Given the description of an element on the screen output the (x, y) to click on. 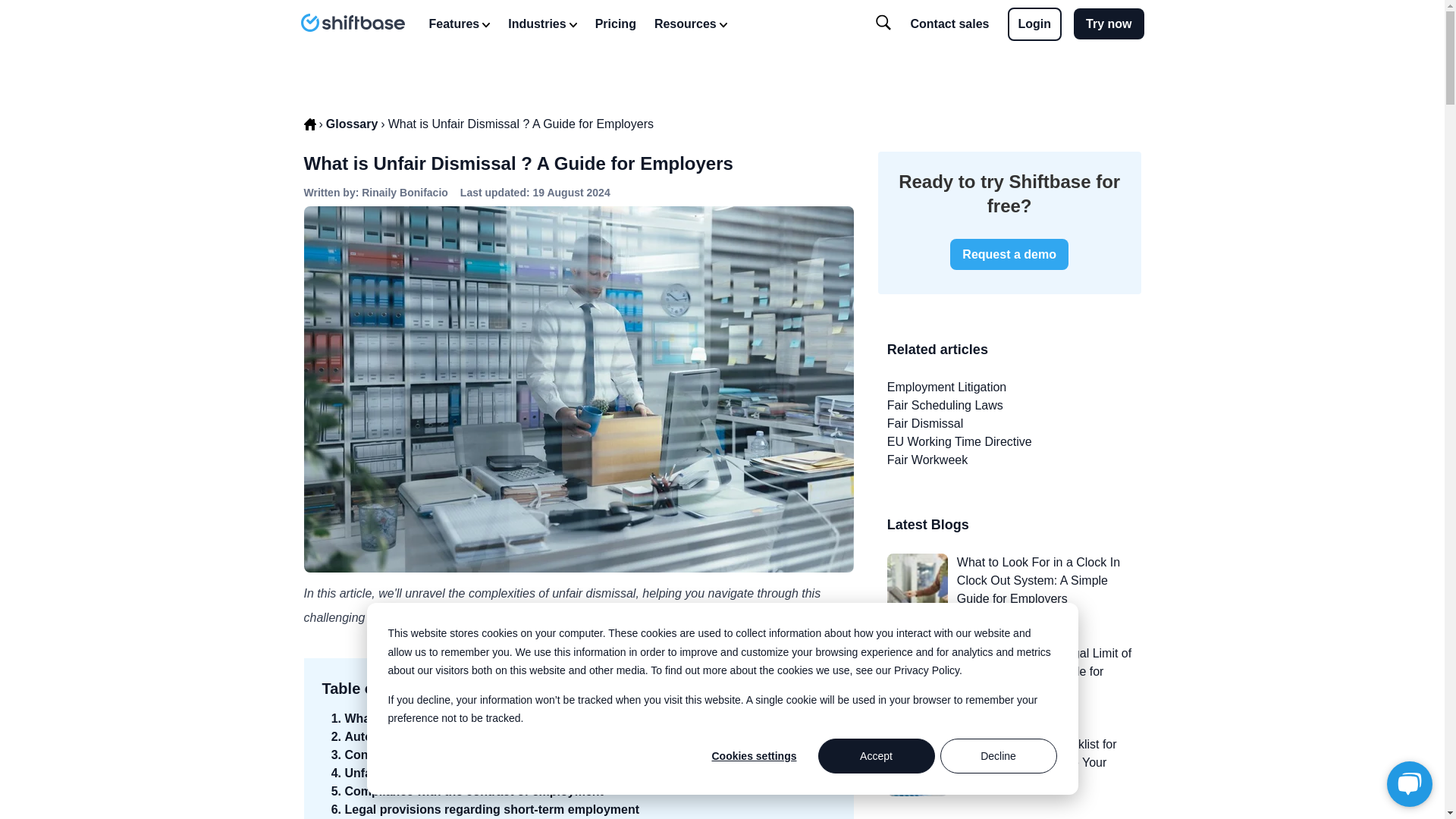
Pricing (615, 23)
Resources (690, 24)
Shiftbase (351, 22)
Features (459, 24)
Industries (542, 24)
